Given the description of an element on the screen output the (x, y) to click on. 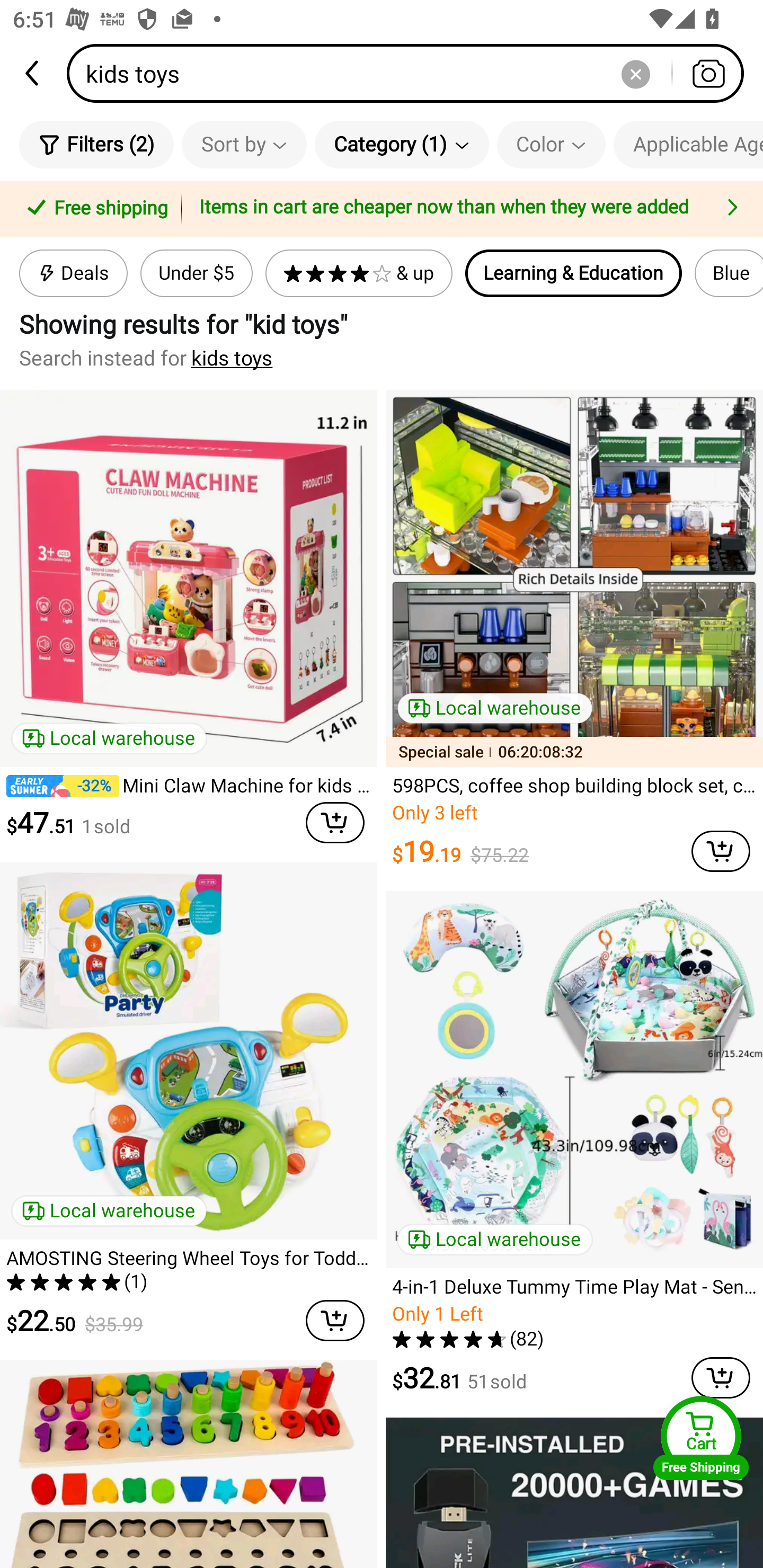
back (33, 72)
kids toys (411, 73)
Delete search history (635, 73)
Search by photo (708, 73)
Filters (2) (96, 143)
Sort by (243, 143)
Category (1) (401, 143)
Color (550, 143)
Applicable Age Group (688, 143)
 Free shipping (93, 208)
Deals (73, 273)
Under $5 (196, 273)
& up (358, 273)
Learning & Education (573, 273)
Blue (728, 273)
kids toys (232, 358)
cart delete (334, 822)
cart delete (720, 851)
cart delete (334, 1319)
cart delete (720, 1377)
Cart Free Shipping Cart (701, 1437)
